Given the description of an element on the screen output the (x, y) to click on. 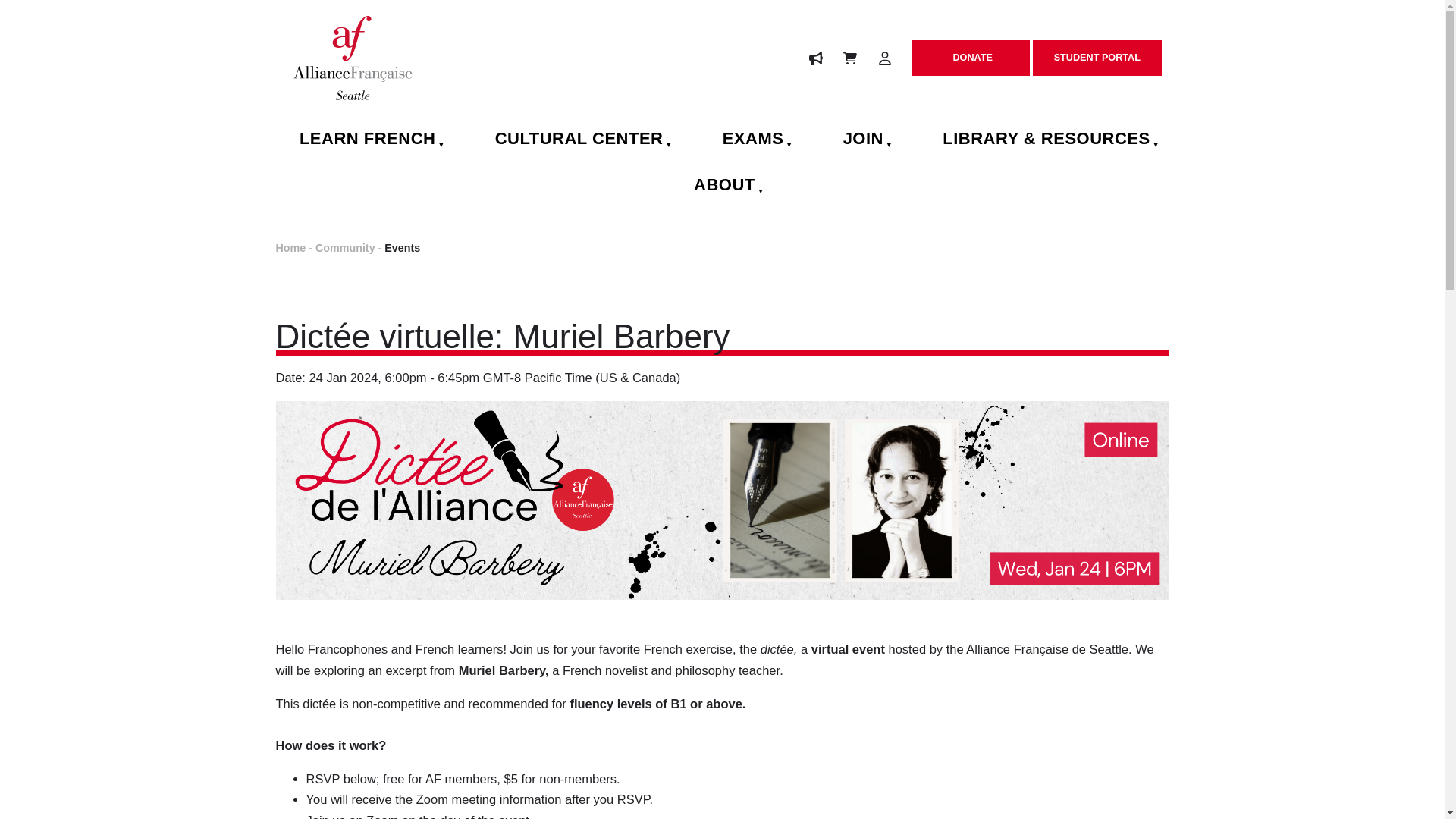
 DONATE (970, 58)
EXAMS (750, 139)
CULTURAL CENTER (576, 139)
STUDENT PORTAL (1096, 58)
JOIN (860, 139)
LEARN FRENCH (364, 139)
